Given the description of an element on the screen output the (x, y) to click on. 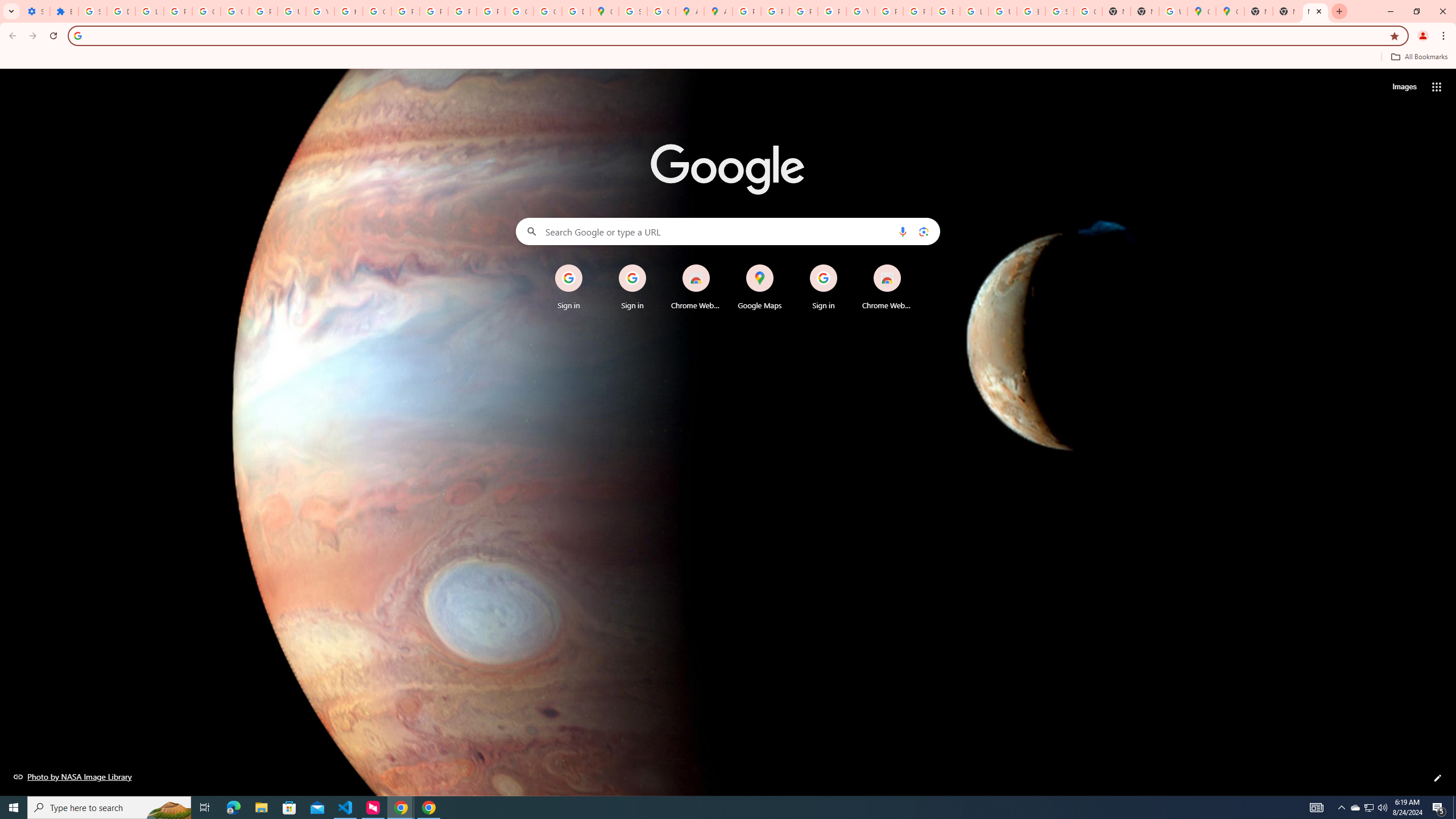
Google Maps (1201, 11)
Sign in - Google Accounts (1058, 11)
Privacy Help Center - Policies Help (774, 11)
Restore (1416, 11)
Search by image (922, 230)
YouTube (860, 11)
Chrome Web Store (887, 287)
Back (10, 35)
Forward (32, 35)
